Given the description of an element on the screen output the (x, y) to click on. 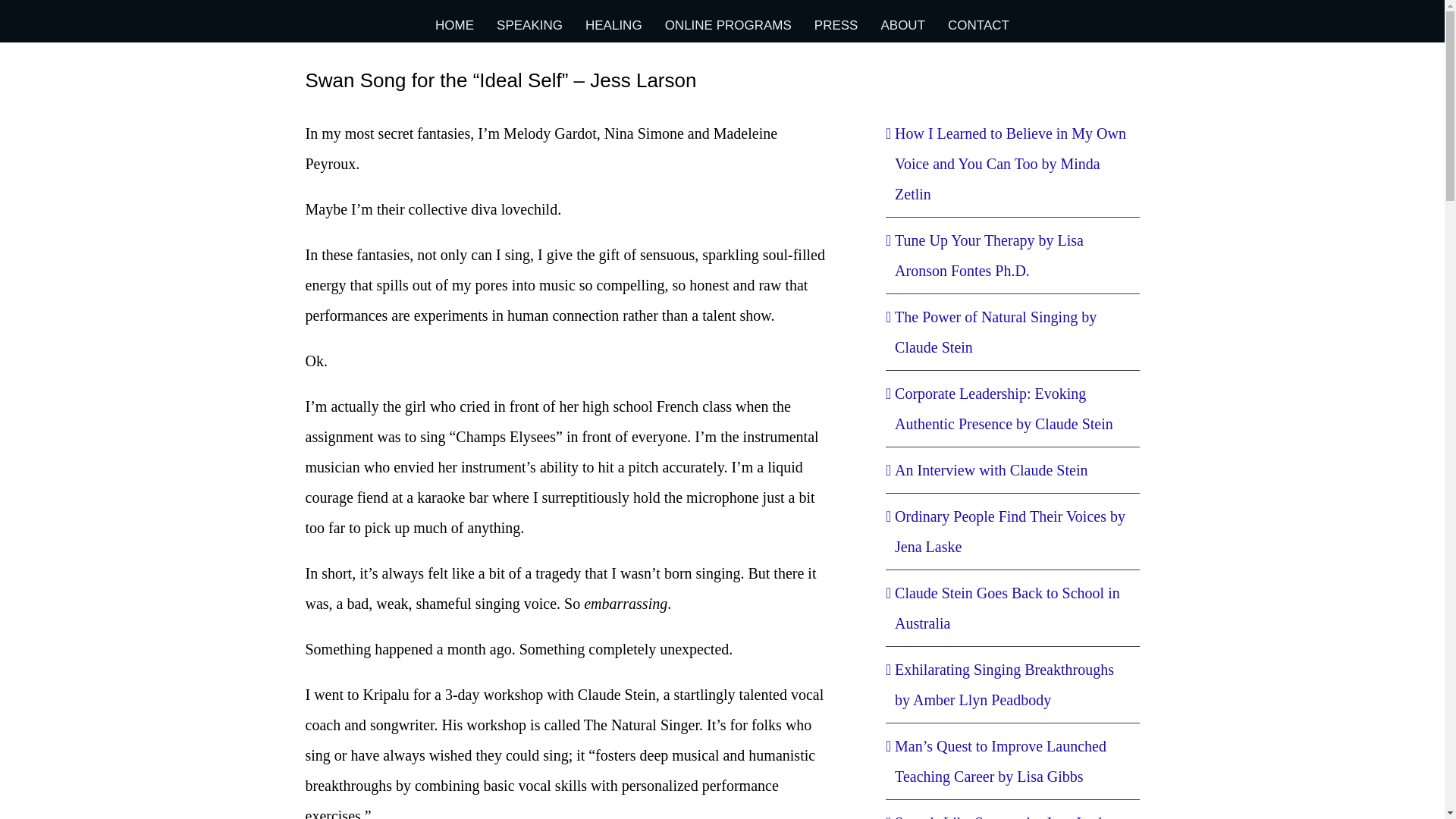
Sounds Like Success by Jena Laske (1003, 816)
HOME (454, 25)
Tune Up Your Therapy by Lisa Aronson Fontes Ph.D. (989, 255)
ABOUT (902, 25)
An Interview with Claude Stein (991, 469)
Exhilarating Singing Breakthroughs by Amber Llyn Peadbody (1004, 684)
Home (914, 80)
Ordinary People Find Their Voices by Jena Laske (1010, 531)
PRESS (836, 25)
